Given the description of an element on the screen output the (x, y) to click on. 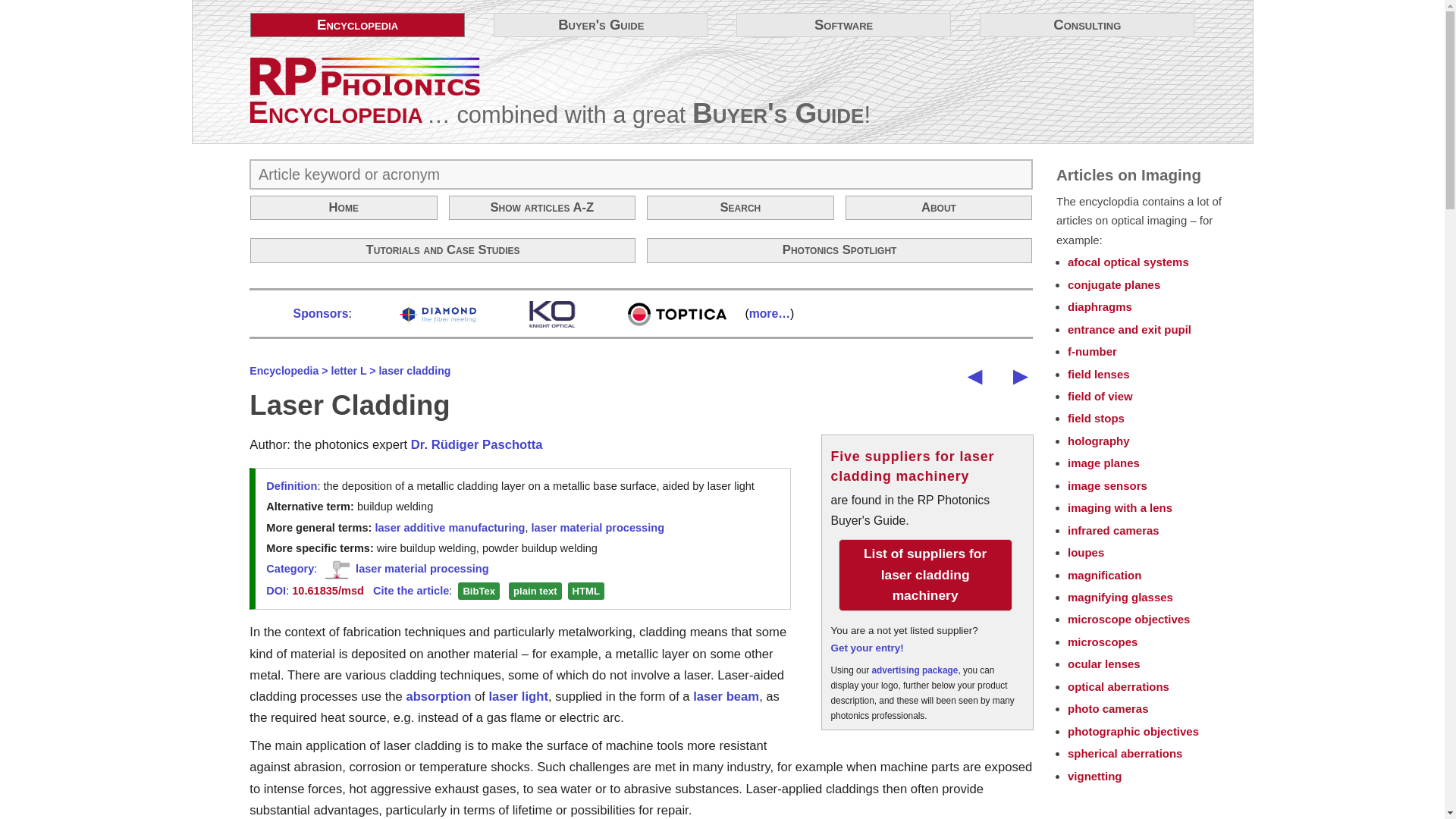
Buyer's Guide (778, 112)
Five suppliers for laser cladding machinery (912, 466)
Buyer's Guide (600, 24)
laser additive manufacturing (449, 527)
laser material processing (597, 527)
Definition (291, 485)
Sponsors (321, 313)
HTML (585, 590)
Search (739, 207)
